Given the description of an element on the screen output the (x, y) to click on. 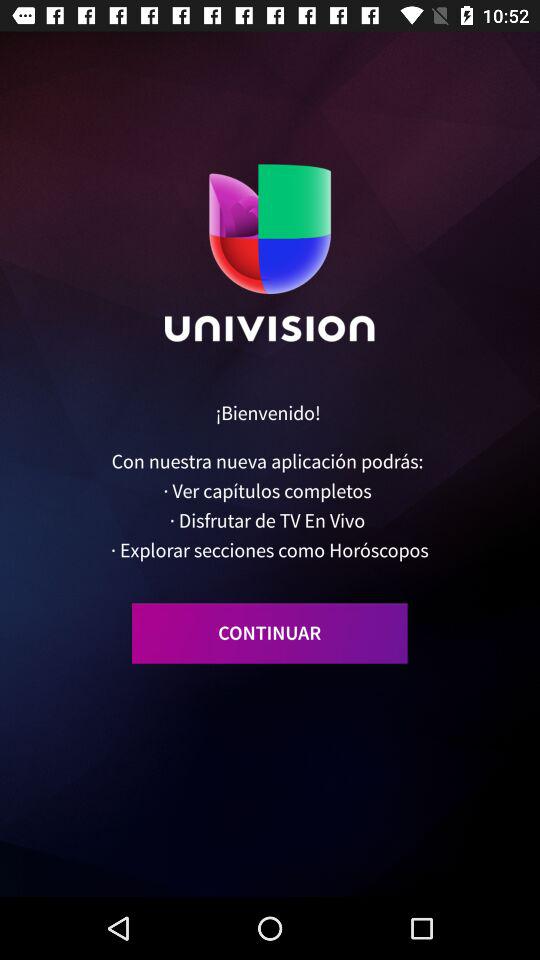
scroll to continuar icon (269, 633)
